Given the description of an element on the screen output the (x, y) to click on. 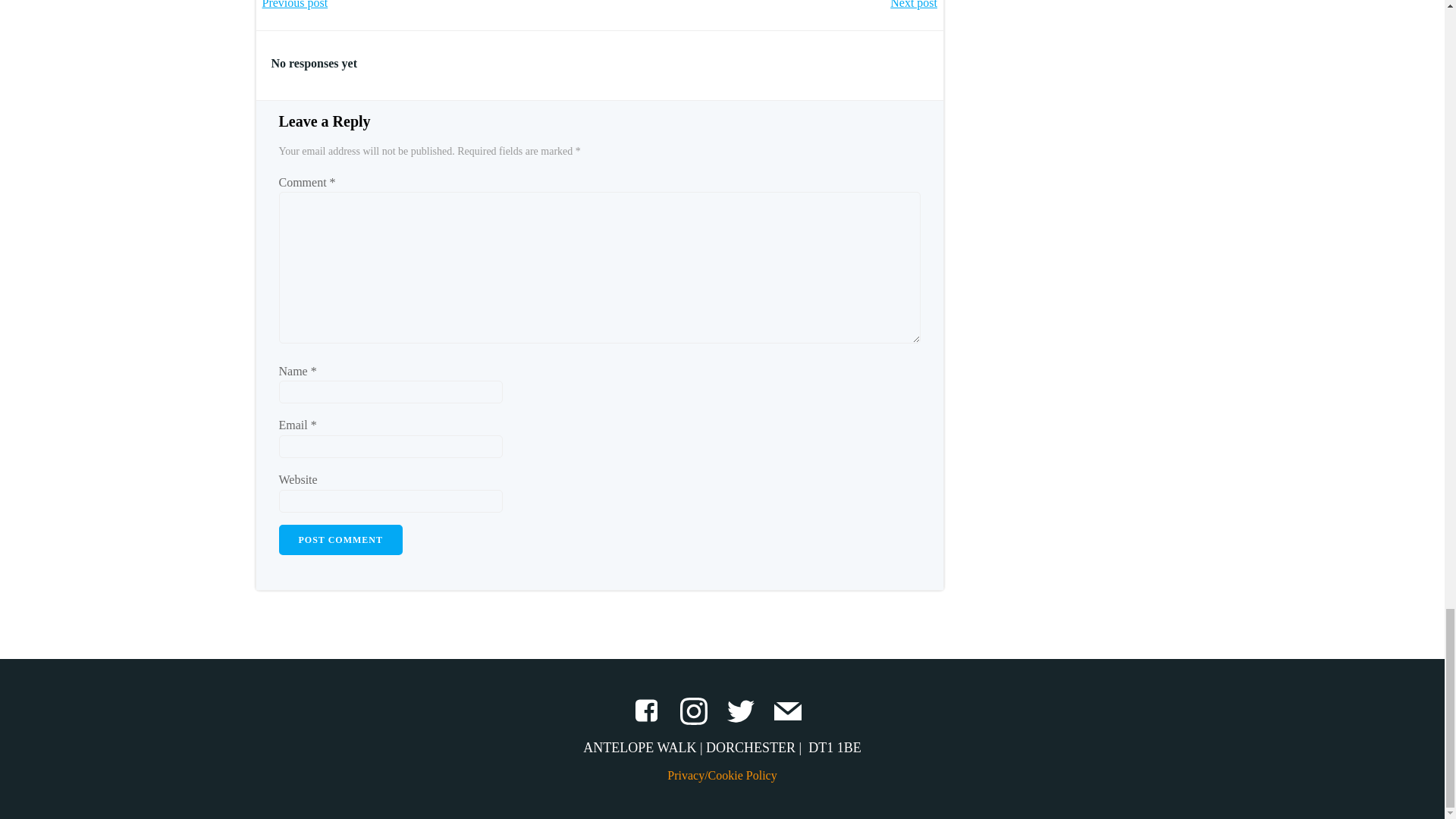
Next post (913, 6)
Post Comment (341, 539)
Previous post (295, 6)
Post Comment (341, 539)
